Given the description of an element on the screen output the (x, y) to click on. 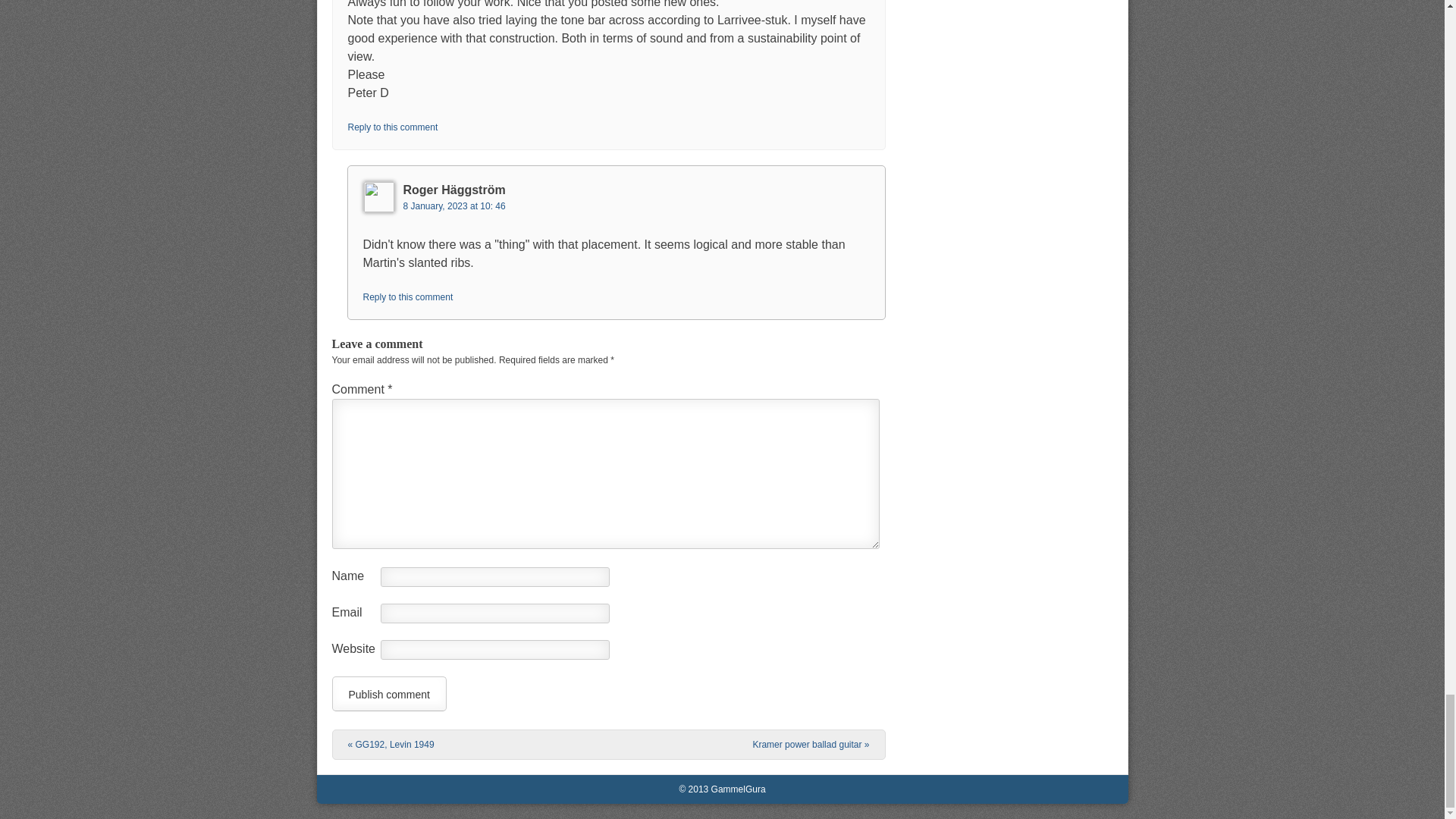
Publish comment (388, 693)
